Given the description of an element on the screen output the (x, y) to click on. 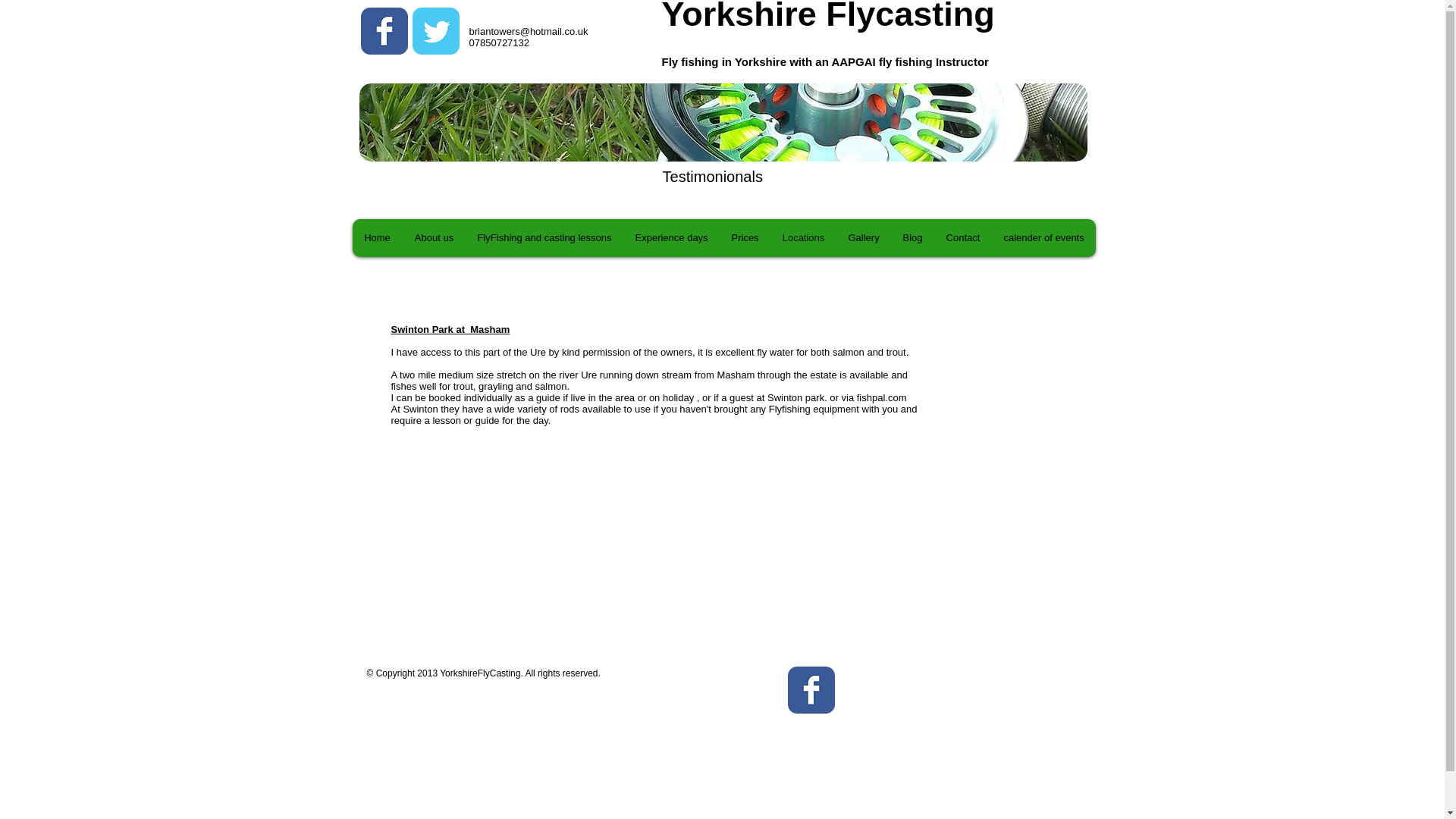
Contact (962, 238)
Gallery (862, 238)
Experience days (671, 238)
Home (376, 238)
calender of events (1043, 238)
Blog (911, 238)
Facebook Like (459, 110)
Facebook Like (937, 694)
FlyFishing and casting lessons (544, 238)
Locations (802, 238)
Prices (744, 238)
About us (432, 238)
